Given the description of an element on the screen output the (x, y) to click on. 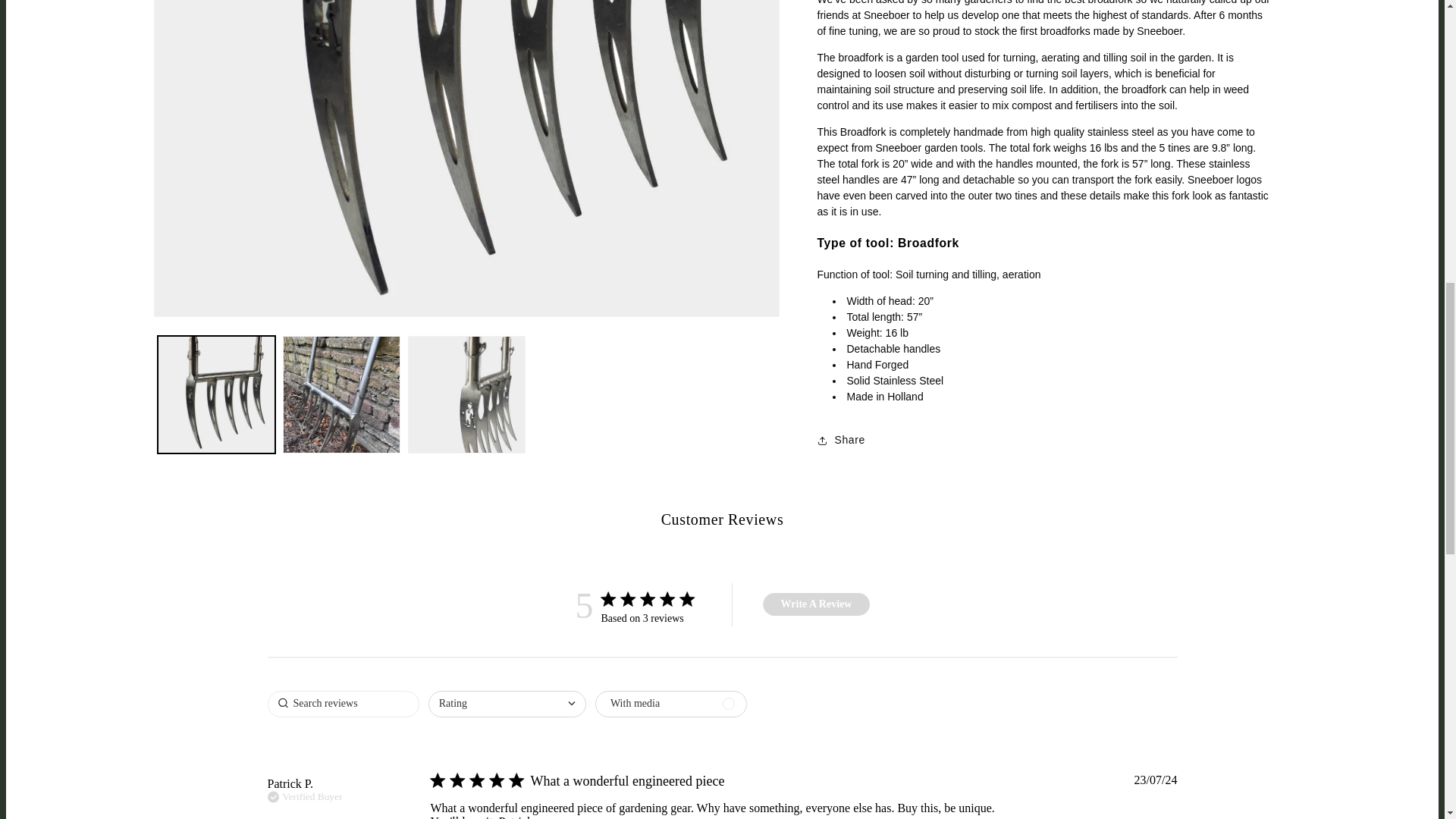
Patrick P. (289, 784)
